Given the description of an element on the screen output the (x, y) to click on. 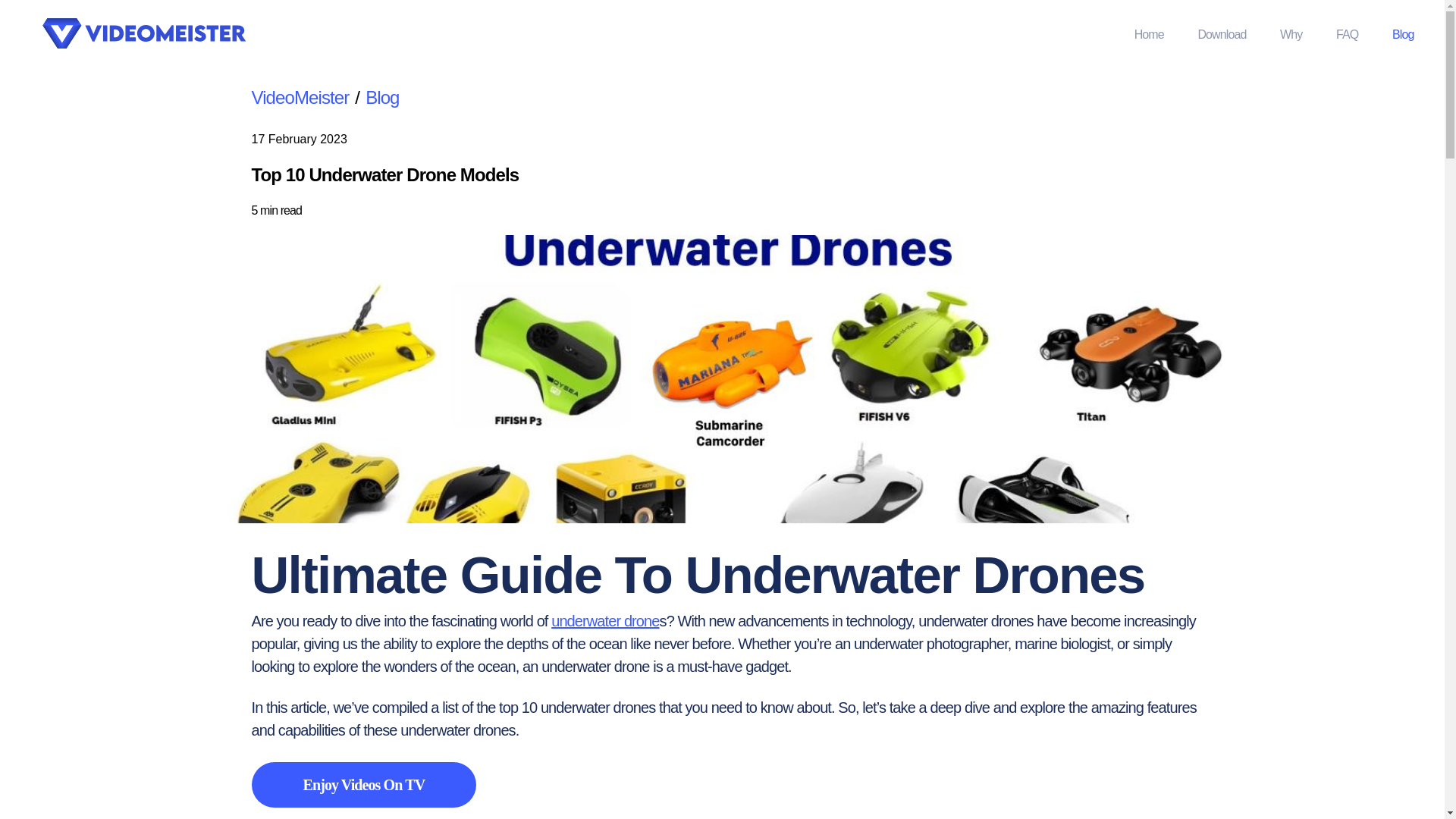
Download (1221, 33)
Blog (381, 96)
Home (1148, 33)
Why (1290, 33)
underwater drone (605, 620)
Blog (1402, 33)
Enjoy Videos On TV (364, 784)
FAQ (1347, 33)
VideoMeister (300, 96)
